Given the description of an element on the screen output the (x, y) to click on. 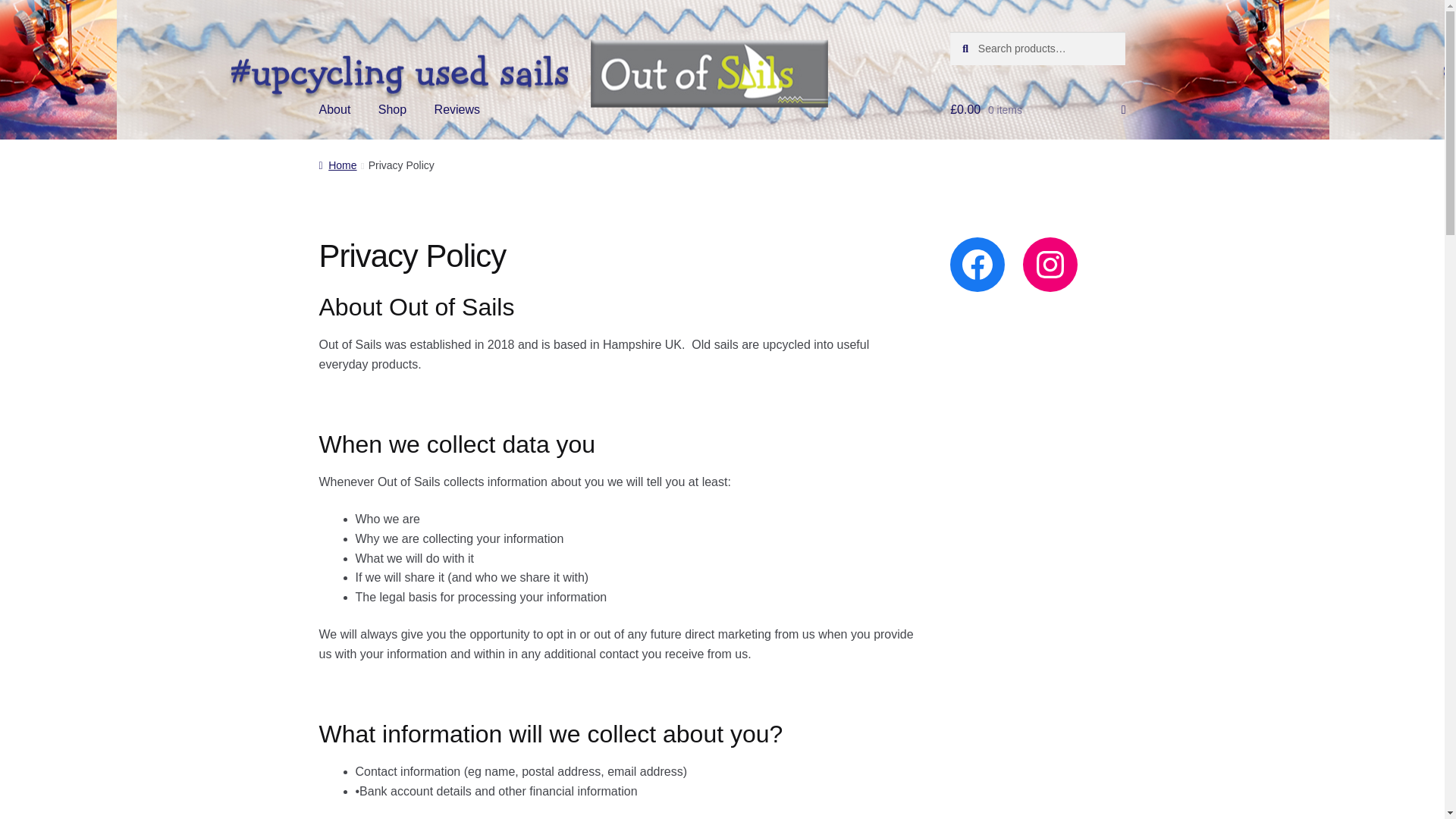
Reviews (457, 109)
Home (337, 164)
Like and Follow my Page (977, 264)
Instagram (1050, 264)
About (334, 109)
View your shopping basket (1037, 109)
